Given the description of an element on the screen output the (x, y) to click on. 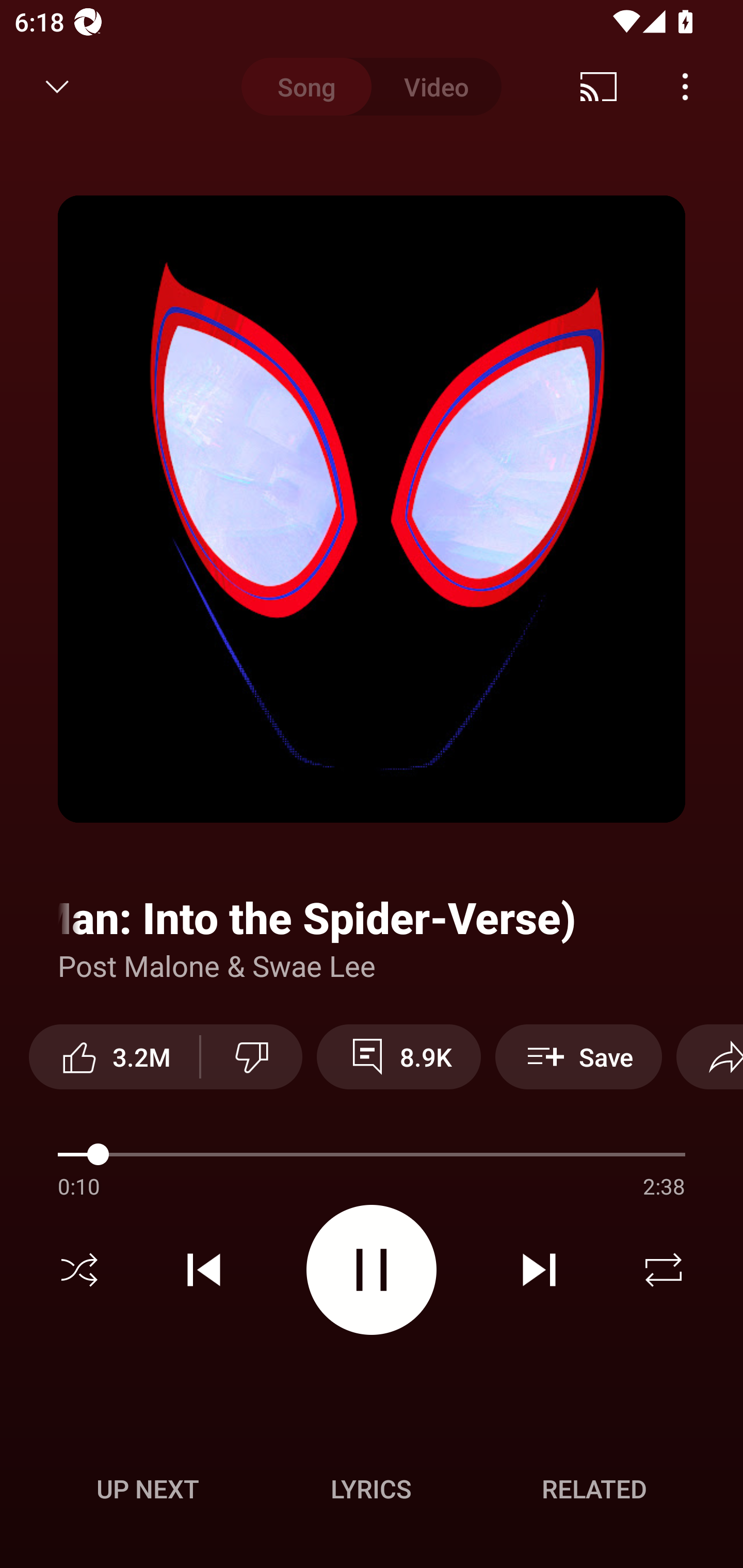
Minimize (57, 86)
Cast. Disconnected (598, 86)
Menu (684, 86)
Dislike (251, 1056)
8.9K View 8,905 comments (398, 1056)
Save Save to playlist (578, 1056)
Share (709, 1056)
Pause video (371, 1269)
Shuffle off (79, 1269)
Previous track (203, 1269)
Next track (538, 1269)
Repeat off (663, 1269)
Up next UP NEXT Lyrics LYRICS Related RELATED (371, 1491)
Lyrics LYRICS (370, 1488)
Related RELATED (594, 1488)
